Given the description of an element on the screen output the (x, y) to click on. 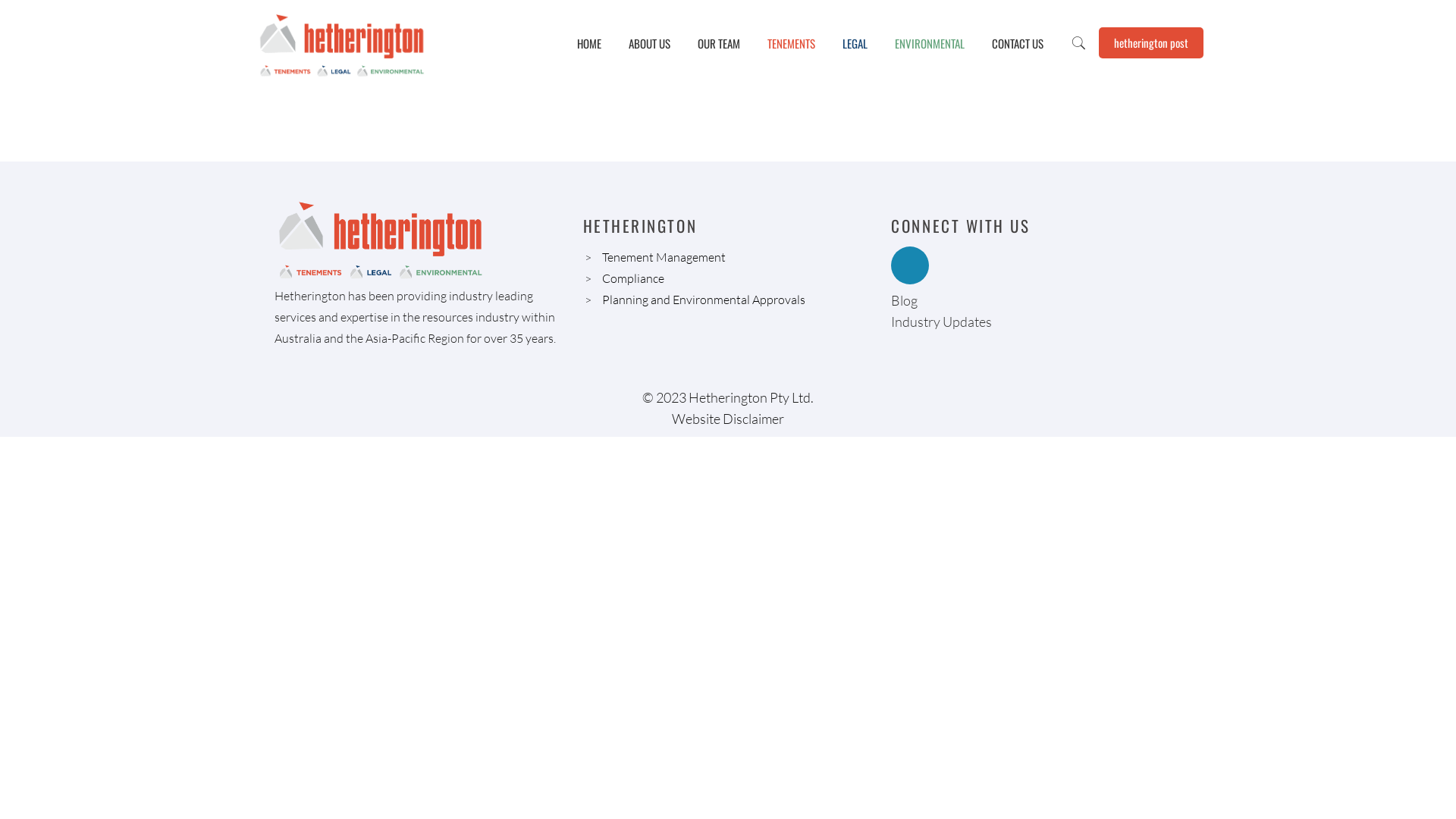
Website Disclaimer Element type: text (727, 418)
TENEMENTS Element type: text (790, 43)
ABOUT US Element type: text (649, 43)
hetherington post Element type: text (1150, 42)
LEGAL Element type: text (854, 43)
CONTACT US Element type: text (1017, 43)
Hetherington Element type: hover (341, 43)
Compliance Element type: text (633, 277)
Industry Updates Element type: text (941, 321)
Planning and Environmental Approvals Element type: text (703, 299)
ENVIRONMENTAL Element type: text (929, 43)
Blog Element type: text (904, 299)
Tenement Management Element type: text (663, 256)
HOME Element type: text (589, 43)
OUR TEAM Element type: text (718, 43)
